Given the description of an element on the screen output the (x, y) to click on. 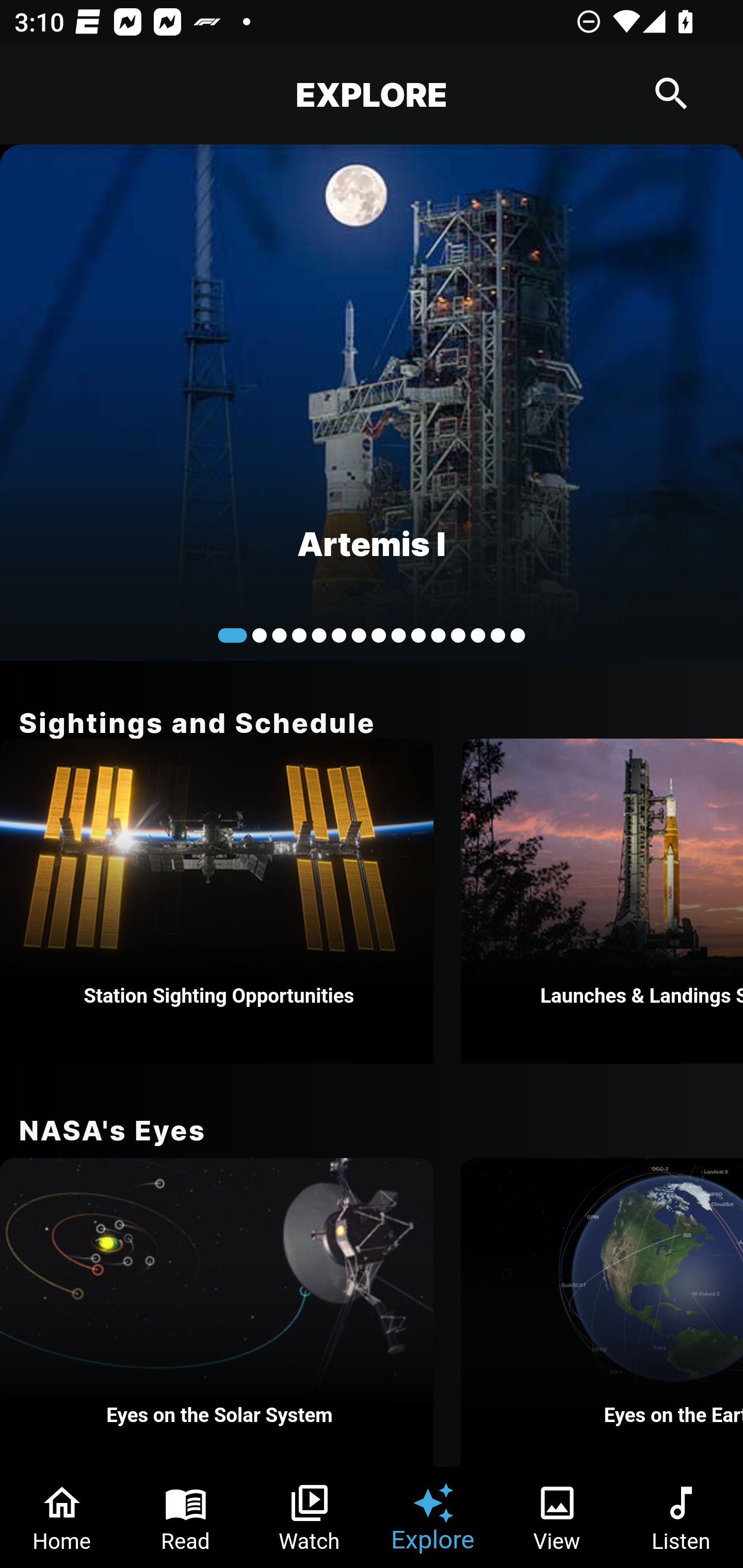
Artemis I
Hello World (371, 402)
Station Sighting Opportunities (216, 900)
Launches & Landings Schedule (601, 900)
Eyes on the Solar System (216, 1312)
Eyes on the Earth (601, 1312)
Home
Tab 1 of 6 (62, 1517)
Read
Tab 2 of 6 (185, 1517)
Watch
Tab 3 of 6 (309, 1517)
Explore
Tab 4 of 6 (433, 1517)
View
Tab 5 of 6 (556, 1517)
Listen
Tab 6 of 6 (680, 1517)
